Given the description of an element on the screen output the (x, y) to click on. 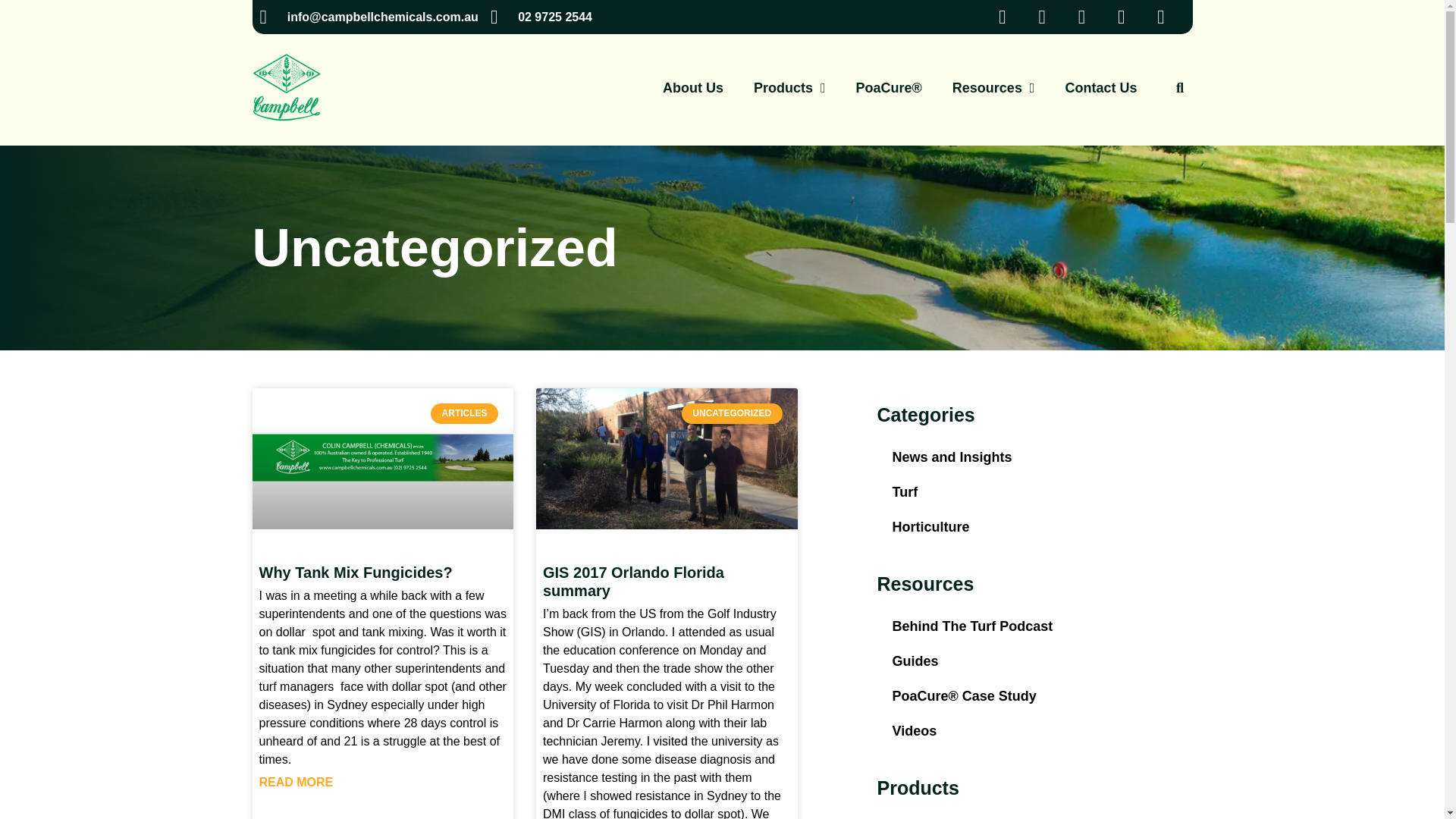
02 9725 2544 (541, 16)
Contact Us (1100, 87)
Why Tank Mix Fungicides? (355, 572)
About Us (692, 87)
Products (789, 87)
GIS 2017 Orlando Florida summary (633, 581)
READ MORE (296, 782)
Resources (993, 87)
